Given the description of an element on the screen output the (x, y) to click on. 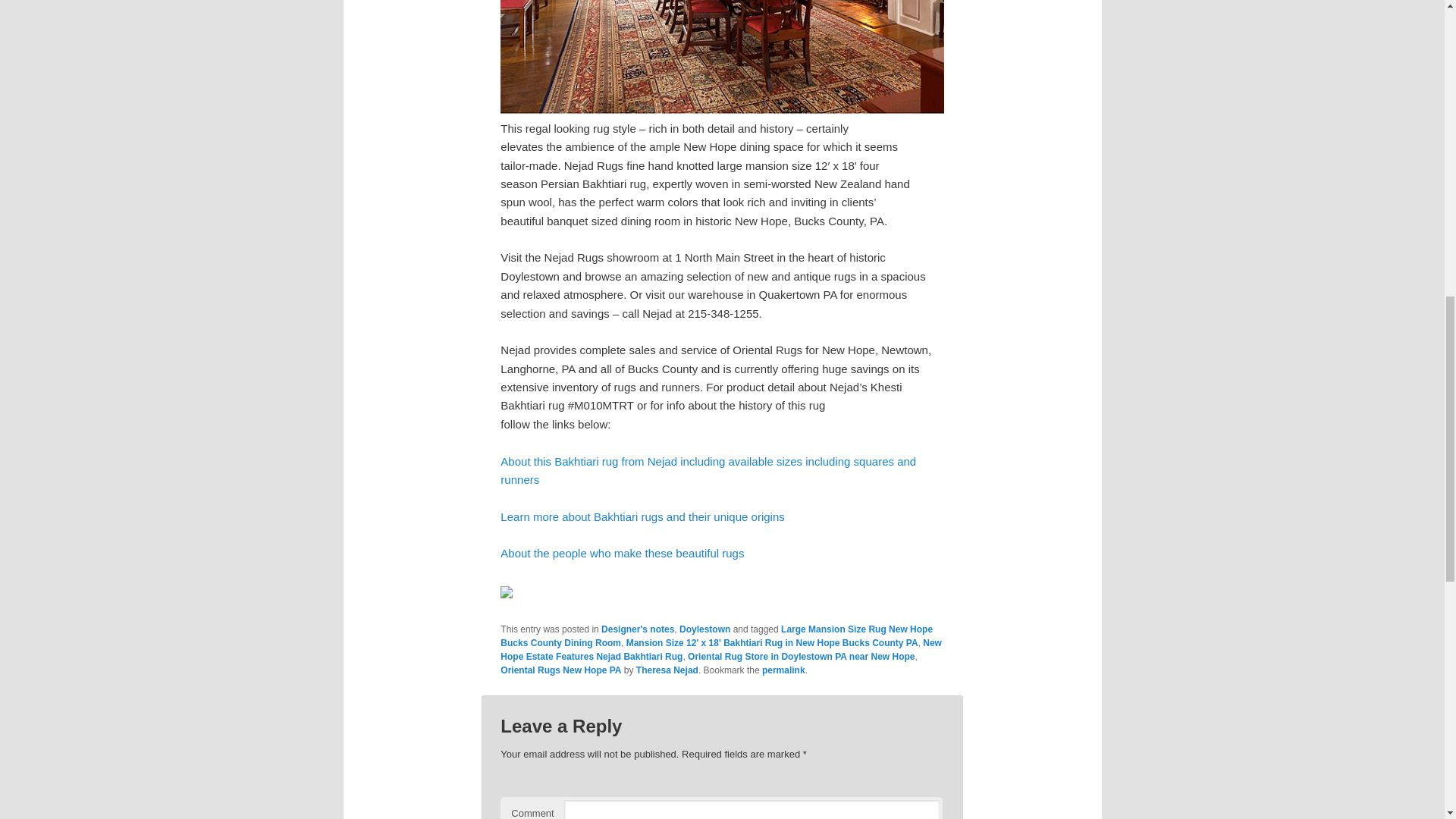
About the people who make these beautiful rugs (622, 553)
Oriental Rugs New Hope PA (560, 670)
Doylestown (704, 629)
Oriental Rug Store in Doylestown PA near New Hope (800, 656)
New Hope Estate Features Nejad Bakhtiari Rug (721, 649)
Large Mansion Size Rug New Hope Bucks County Dining Room (716, 636)
permalink (783, 670)
Learn more about Bakhtiari rugs and their unique origins (642, 516)
Designer's notes (637, 629)
Theresa Nejad (667, 670)
